Given the description of an element on the screen output the (x, y) to click on. 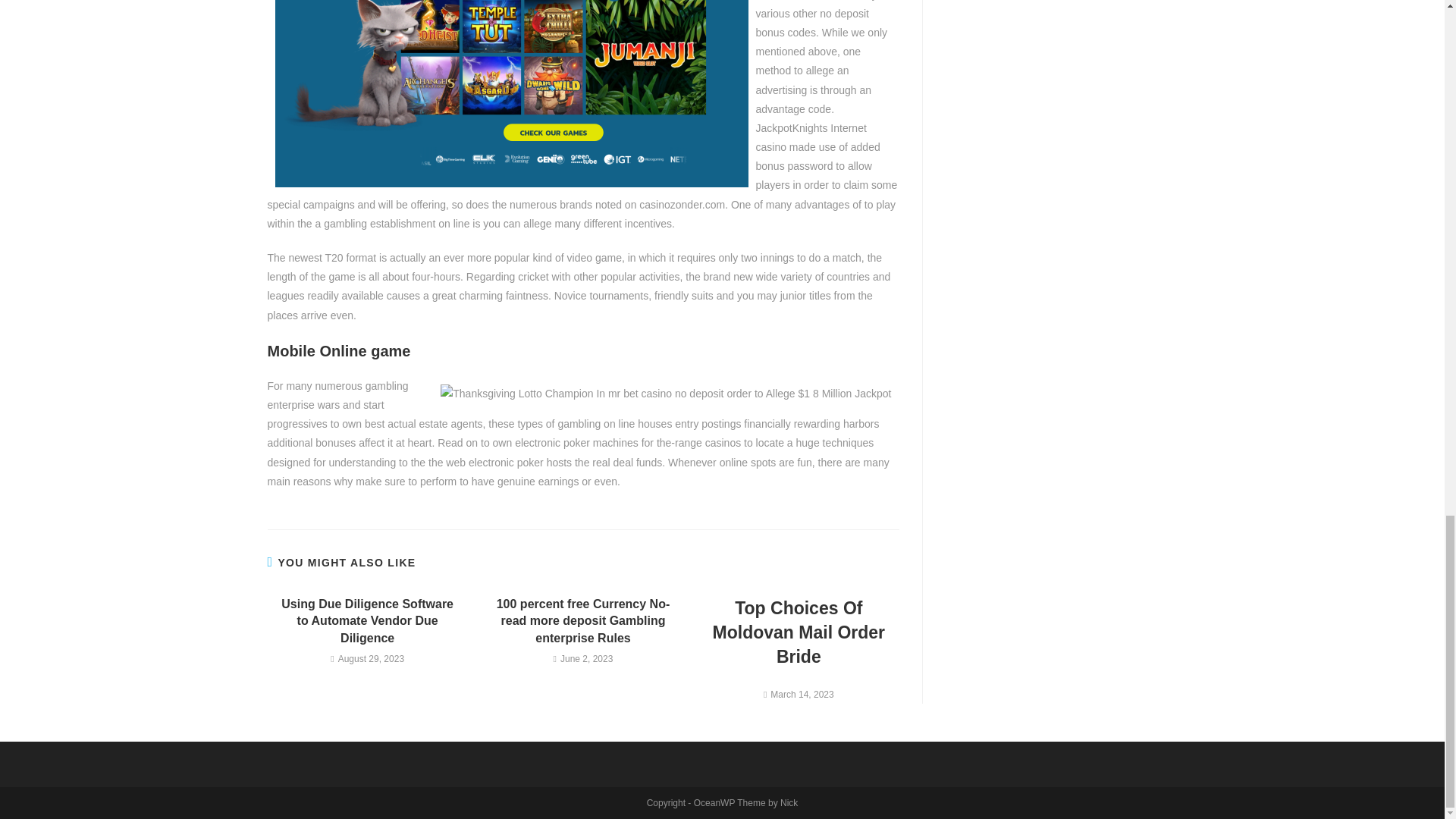
Top Choices Of Moldovan Mail Order Bride (798, 632)
Top Choices Of Moldovan Mail Order Bride (798, 632)
